Given the description of an element on the screen output the (x, y) to click on. 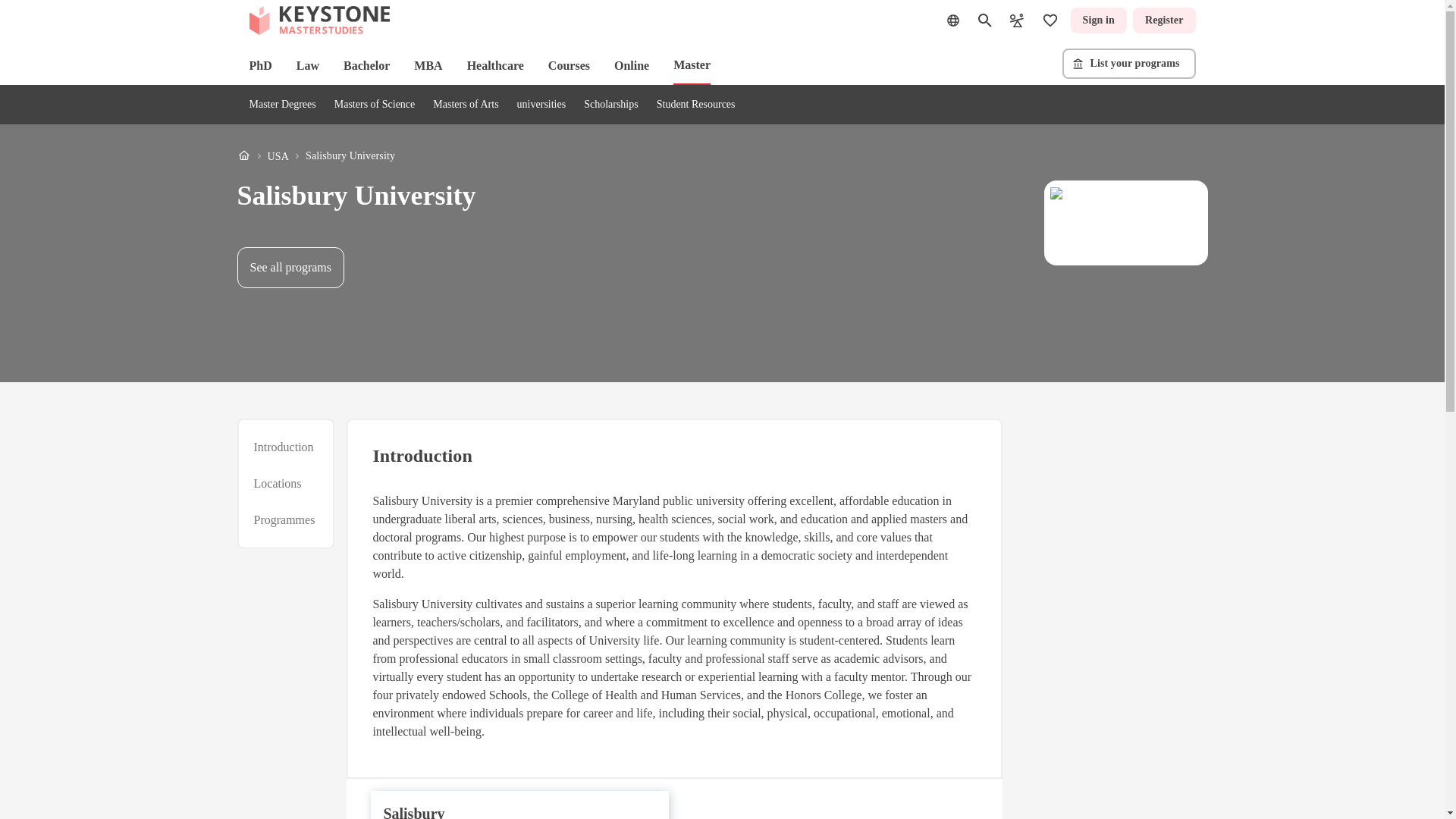
List your programs (1128, 63)
Online (631, 65)
Student Resources (695, 103)
USA (277, 156)
Programmes (283, 520)
See all programs (289, 267)
Scholarships (611, 103)
Locations (277, 484)
universities (541, 103)
